Given the description of an element on the screen output the (x, y) to click on. 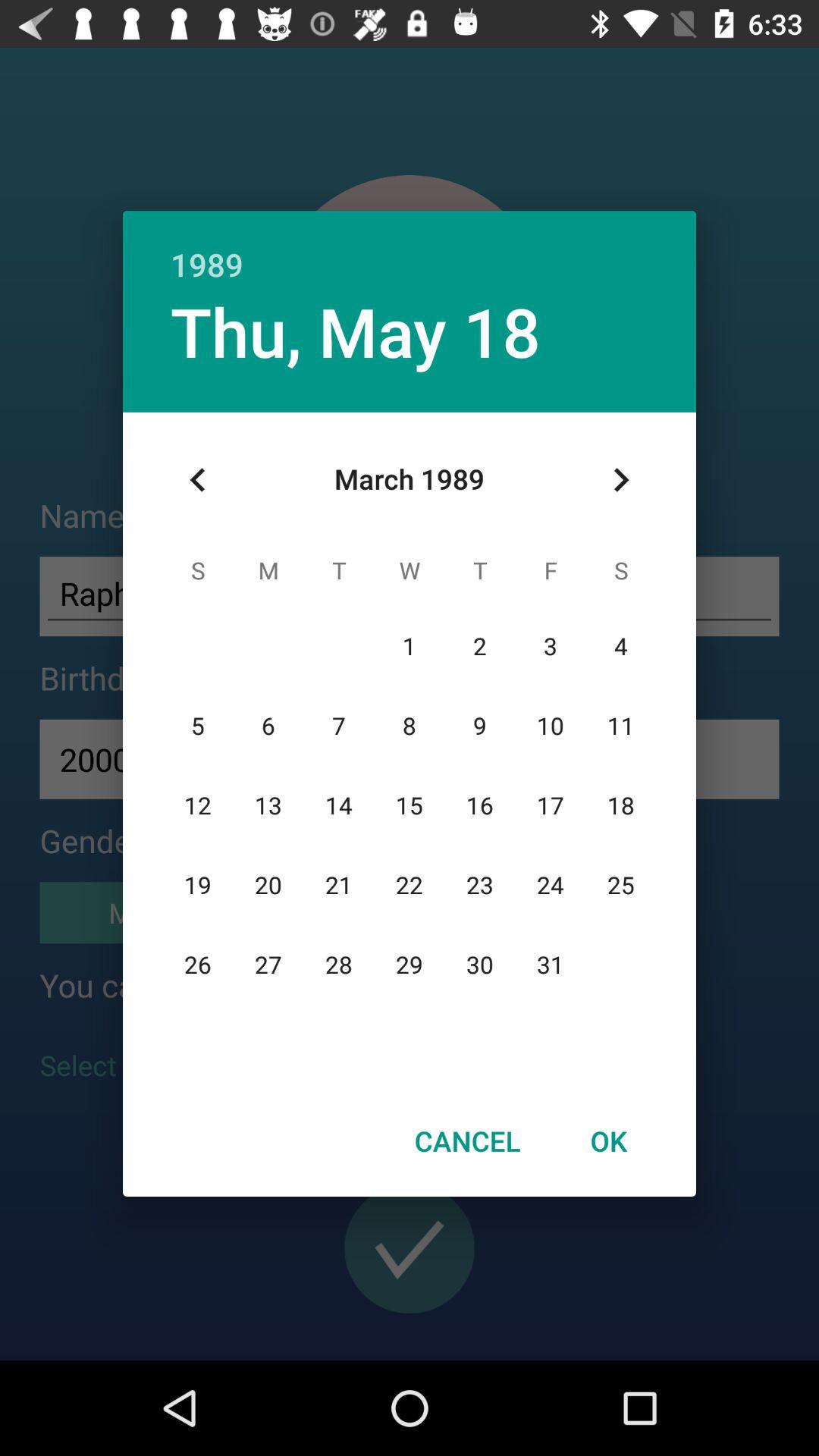
press the icon below the 1989 (620, 479)
